Given the description of an element on the screen output the (x, y) to click on. 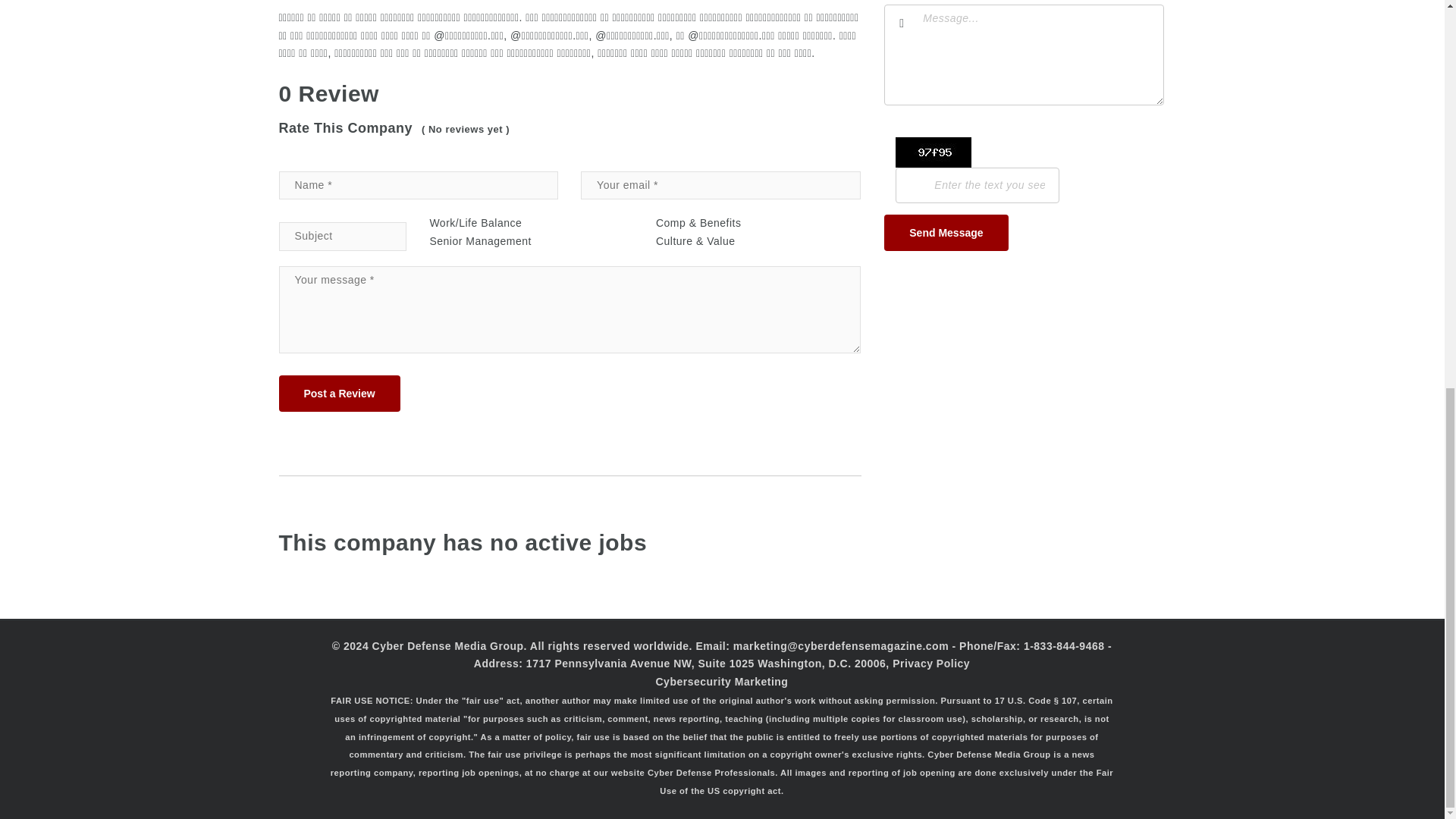
Send Message (945, 232)
Privacy Policy (930, 663)
Cybersecurity Marketing (721, 681)
Post a Review (339, 393)
